Given the description of an element on the screen output the (x, y) to click on. 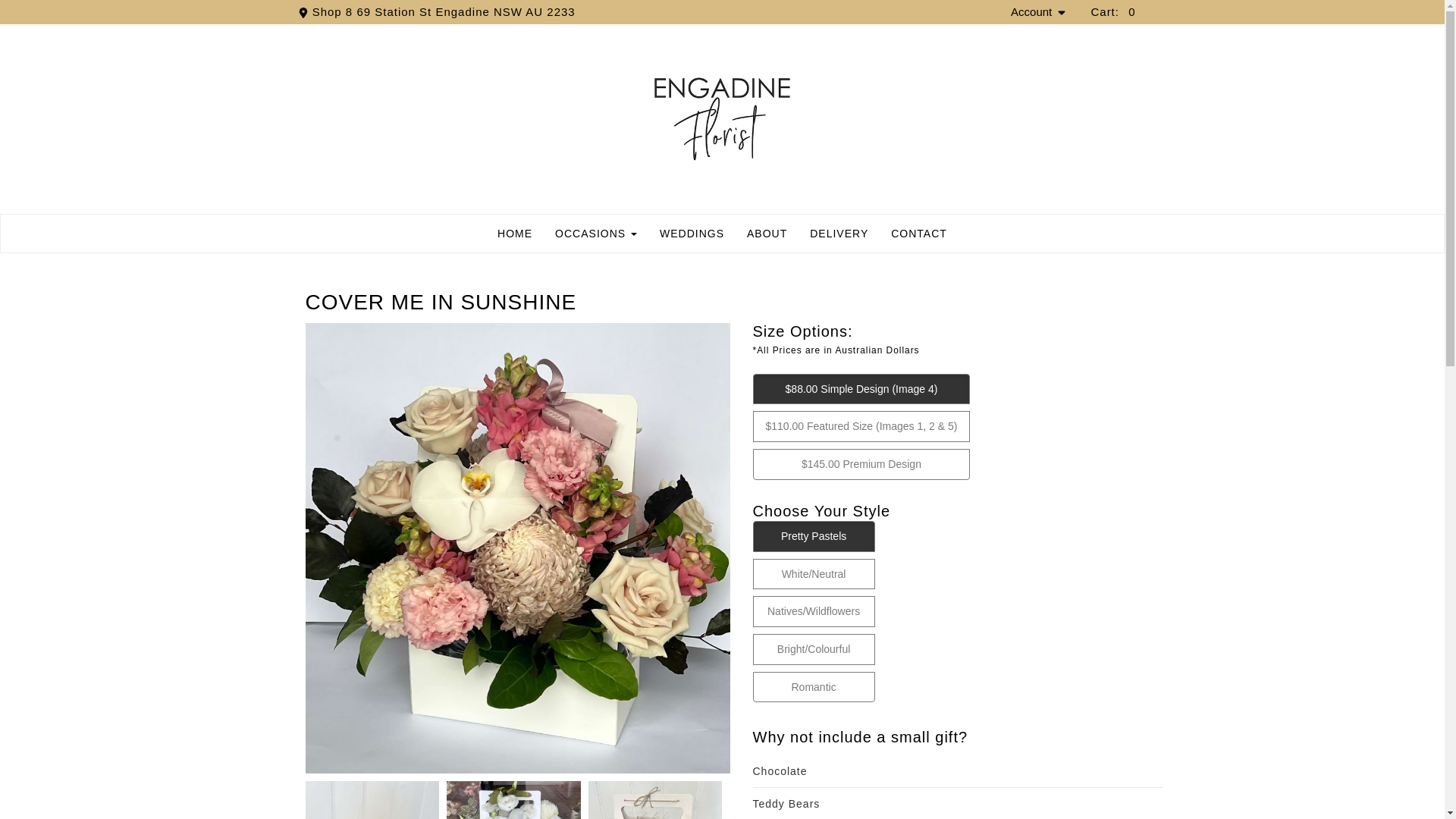
CONTACT (918, 233)
Cart: 0 (1112, 11)
Cover Me In Sunshine (655, 800)
Romantic (797, 687)
WEDDINGS (691, 233)
Chocolate (956, 770)
Cover Me In Sunshine (371, 800)
145.00:Premium Design (806, 465)
Cover Me In Sunshine (513, 800)
DELIVERY (838, 233)
Cart (1112, 11)
Account (1039, 12)
ABOUT (766, 233)
